Given the description of an element on the screen output the (x, y) to click on. 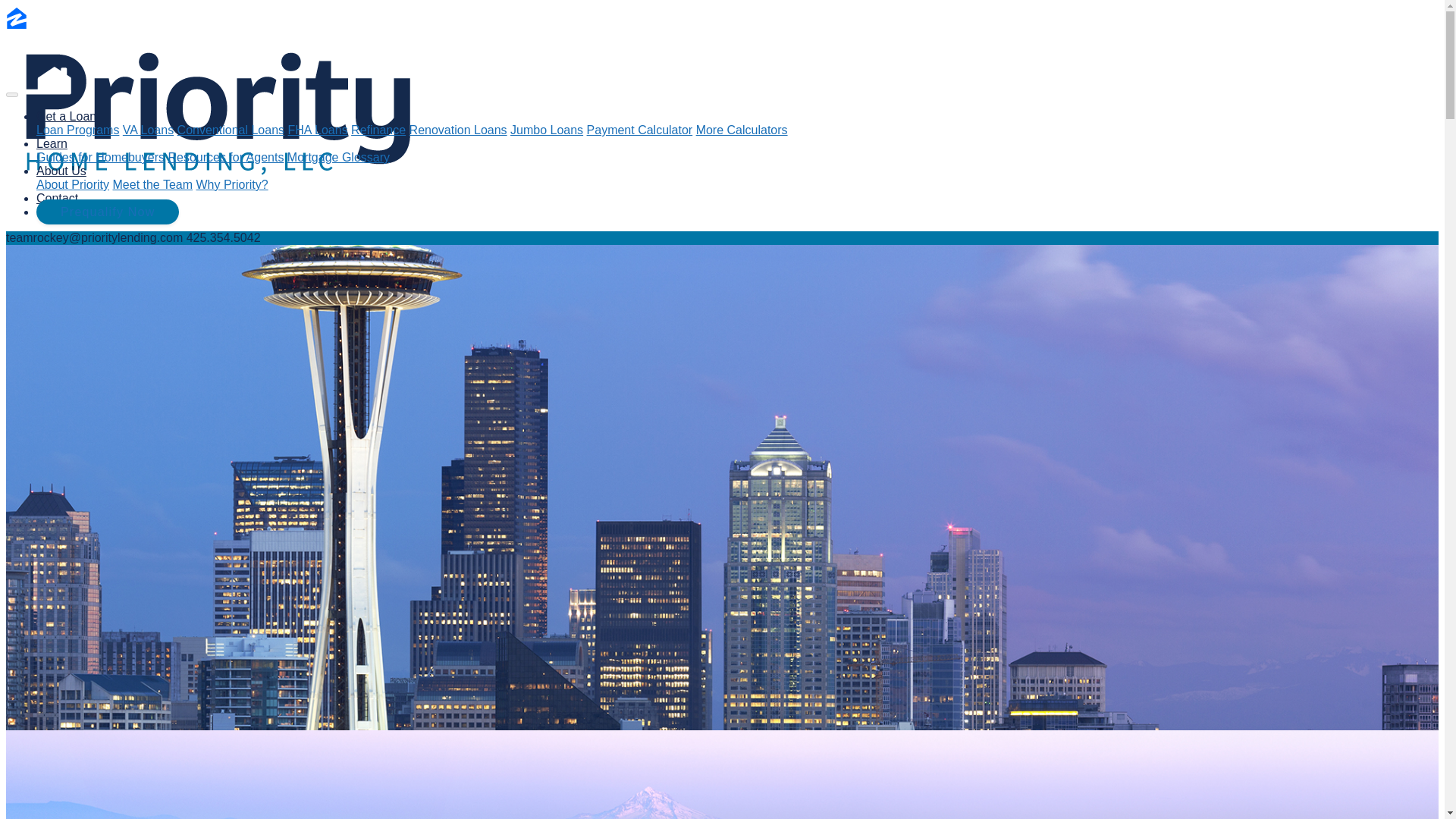
VA Loans (147, 129)
Resources for Agents (225, 156)
Payment Calculator (639, 129)
FHA Loans (317, 129)
Mortgage Glossary (338, 156)
Guides for Homebuyers (100, 156)
Prequalify Now (107, 211)
Conventional Loans (230, 129)
Renovation Loans (457, 129)
Refinance (378, 129)
425.354.5042 (223, 237)
Why Priority? (231, 184)
Meet the Team (152, 184)
Loan Programs (77, 129)
Contact (57, 197)
